Given the description of an element on the screen output the (x, y) to click on. 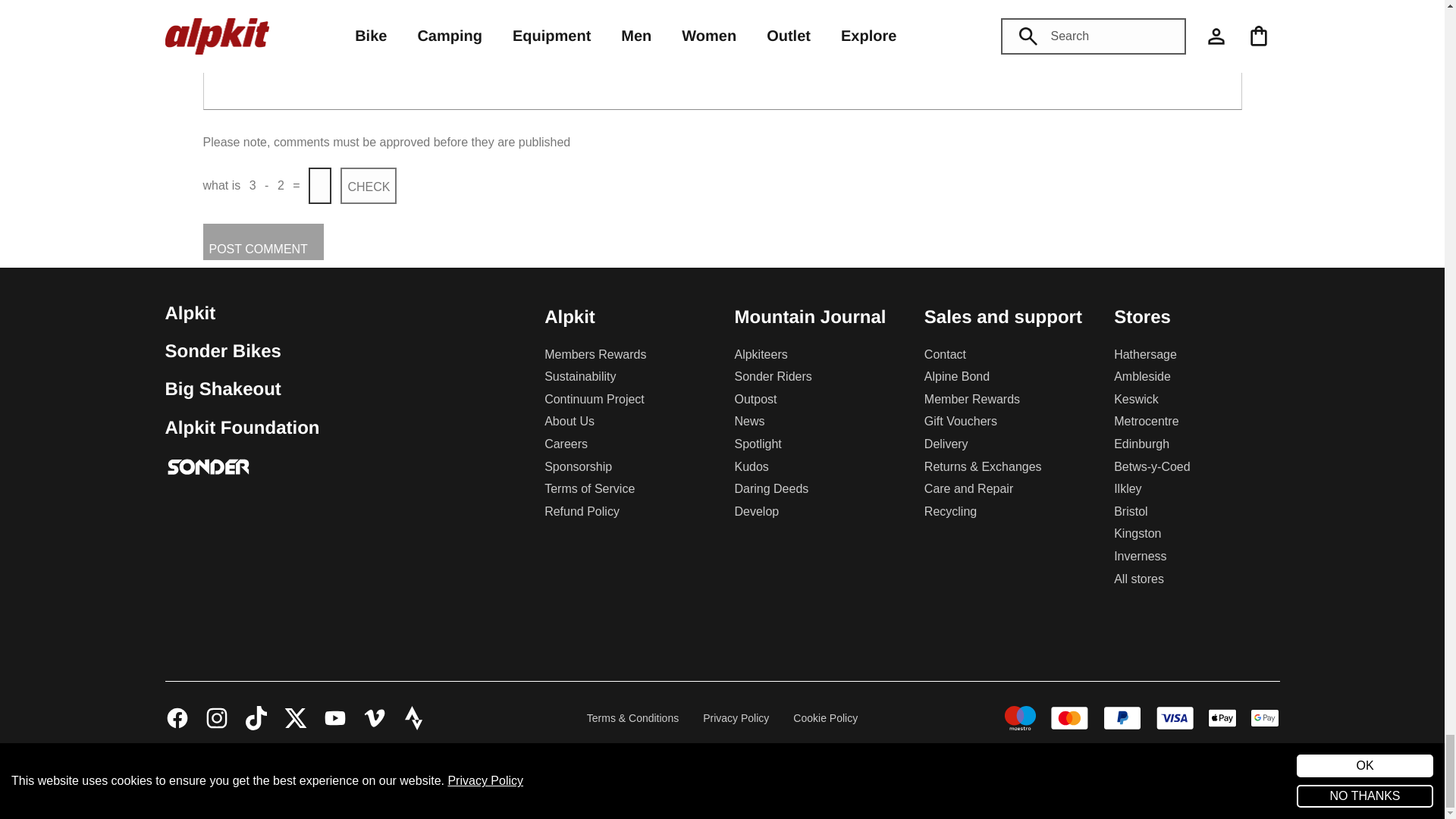
Check (367, 185)
Post comment (263, 241)
